Given the description of an element on the screen output the (x, y) to click on. 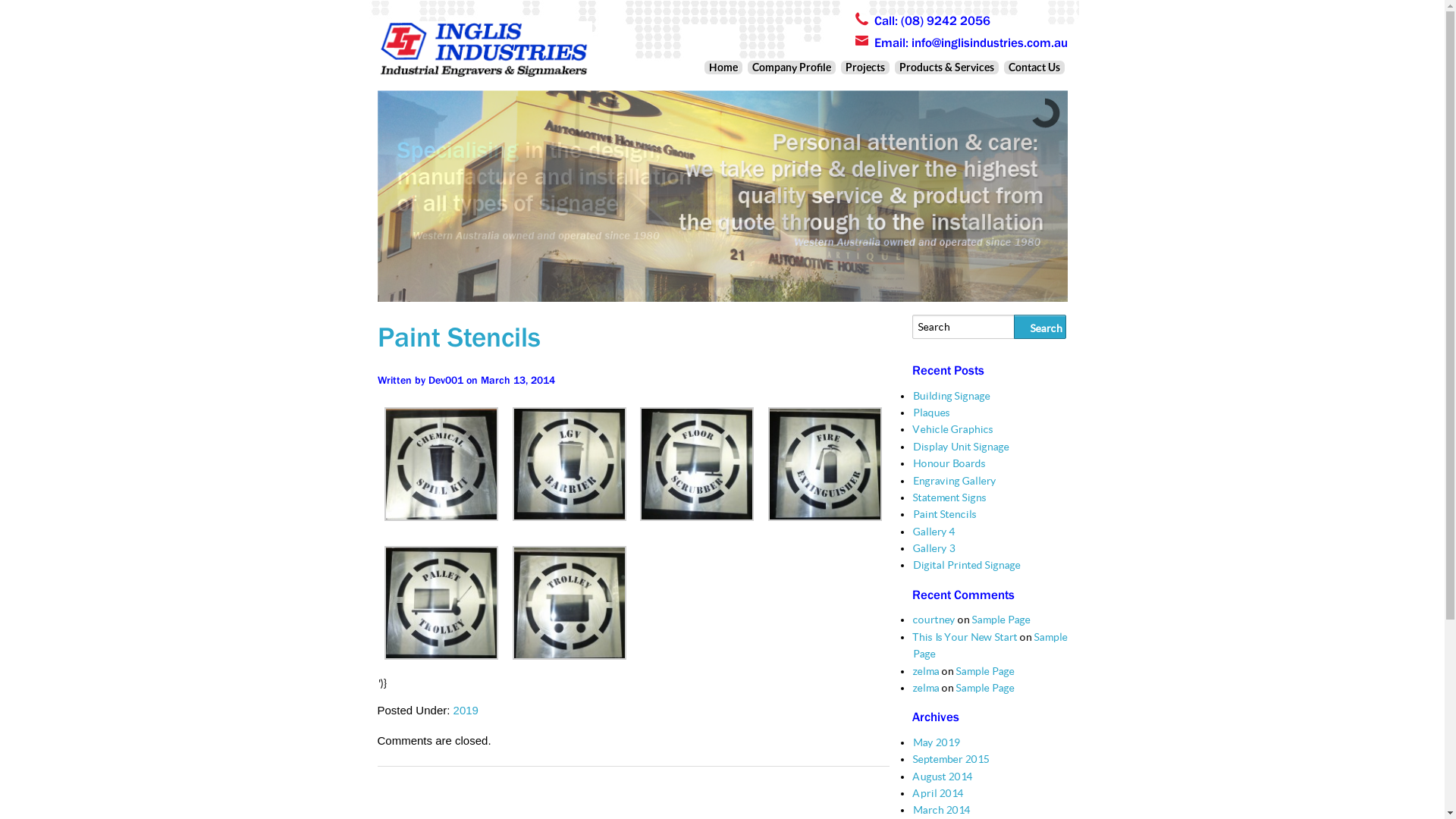
Engraving Gallery Element type: text (952, 480)
April 2014 Element type: text (936, 793)
zelma Element type: text (924, 671)
Projects Element type: text (864, 67)
May 2019 Element type: text (934, 742)
Building Signage Element type: text (949, 395)
Vehicle Graphics Element type: text (951, 429)
Statement Signs Element type: text (948, 497)
Company Profile Element type: text (791, 67)
Large Aluminium Stencil - Floor Scrubber Element type: hover (696, 517)
1-P1010348 Element type: hover (441, 517)
Large Aluminium Stencil - Pallet Trolley Element type: hover (441, 655)
courtney Element type: text (932, 619)
zelma Element type: text (924, 687)
Contact Us Element type: text (1034, 67)
Large Aluminium Stencil - LGV Barrier Element type: hover (569, 517)
Gallery 4 Element type: text (932, 531)
Plaques Element type: text (929, 412)
Display Unit Signage Element type: text (959, 446)
Sample Page Element type: text (999, 619)
Home Element type: text (722, 67)
Honour Boards Element type: text (947, 463)
Paint Stencils Element type: text (943, 514)
Search Element type: text (1039, 326)
Large Aluminium Stencil - Trolley Element type: hover (569, 655)
Paint Stencils Element type: text (458, 336)
March 2014 Element type: text (940, 809)
Sample Page Element type: text (984, 671)
Large Aluminium Stencil - Fire Extinguisher Element type: hover (824, 517)
Gallery 3 Element type: text (932, 548)
2019 Element type: text (465, 709)
Digital Printed Signage Element type: text (965, 564)
August 2014 Element type: text (941, 776)
September 2015 Element type: text (949, 759)
Sample Page Element type: text (984, 687)
Sample Page Element type: text (988, 644)
This Is Your New Start Element type: text (963, 636)
Products & Services Element type: text (946, 67)
